Given the description of an element on the screen output the (x, y) to click on. 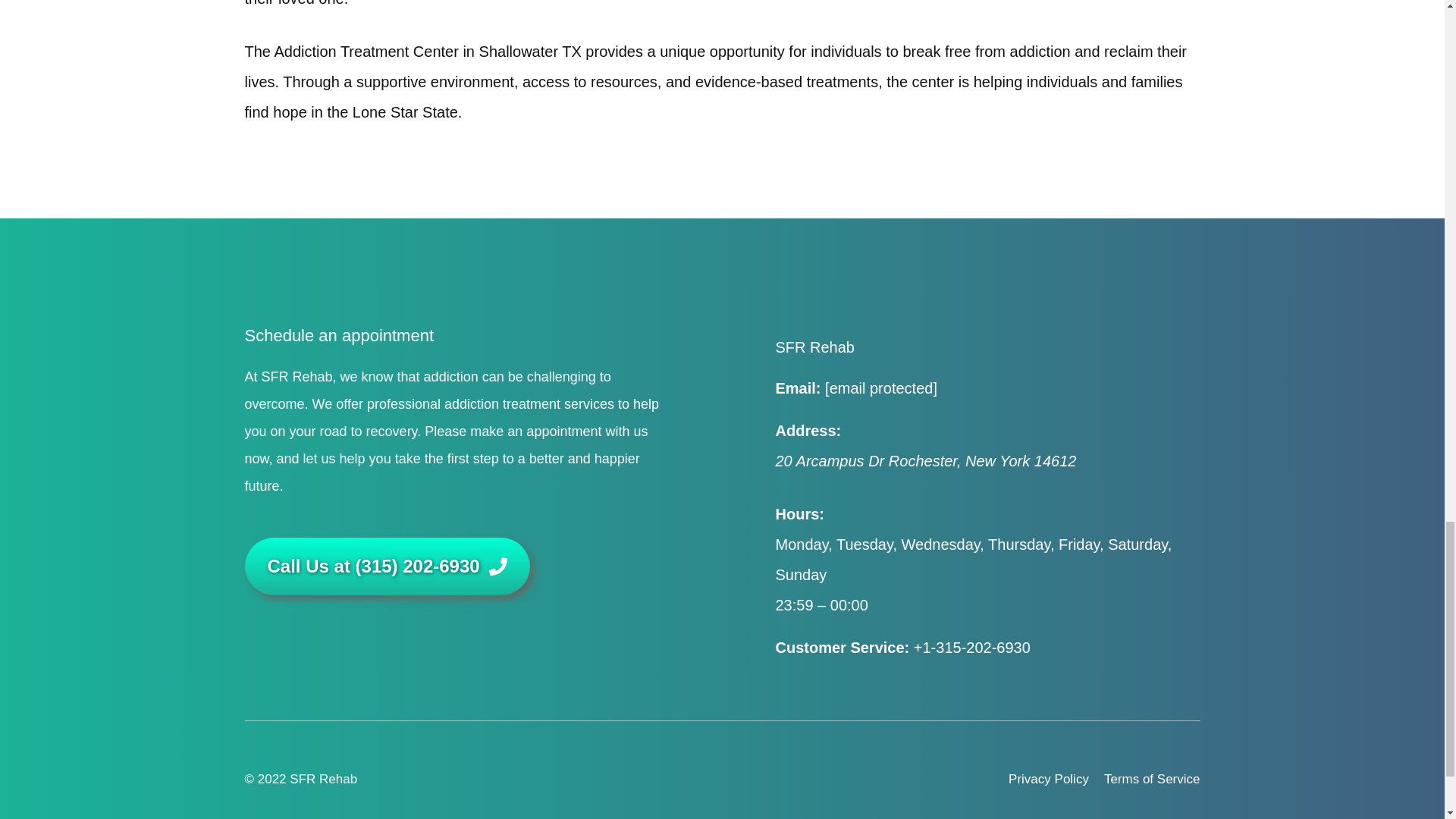
Terms of Service (1151, 779)
SFR Rehab (322, 779)
Privacy Policy (1049, 779)
SFR Rehab (814, 347)
